Given the description of an element on the screen output the (x, y) to click on. 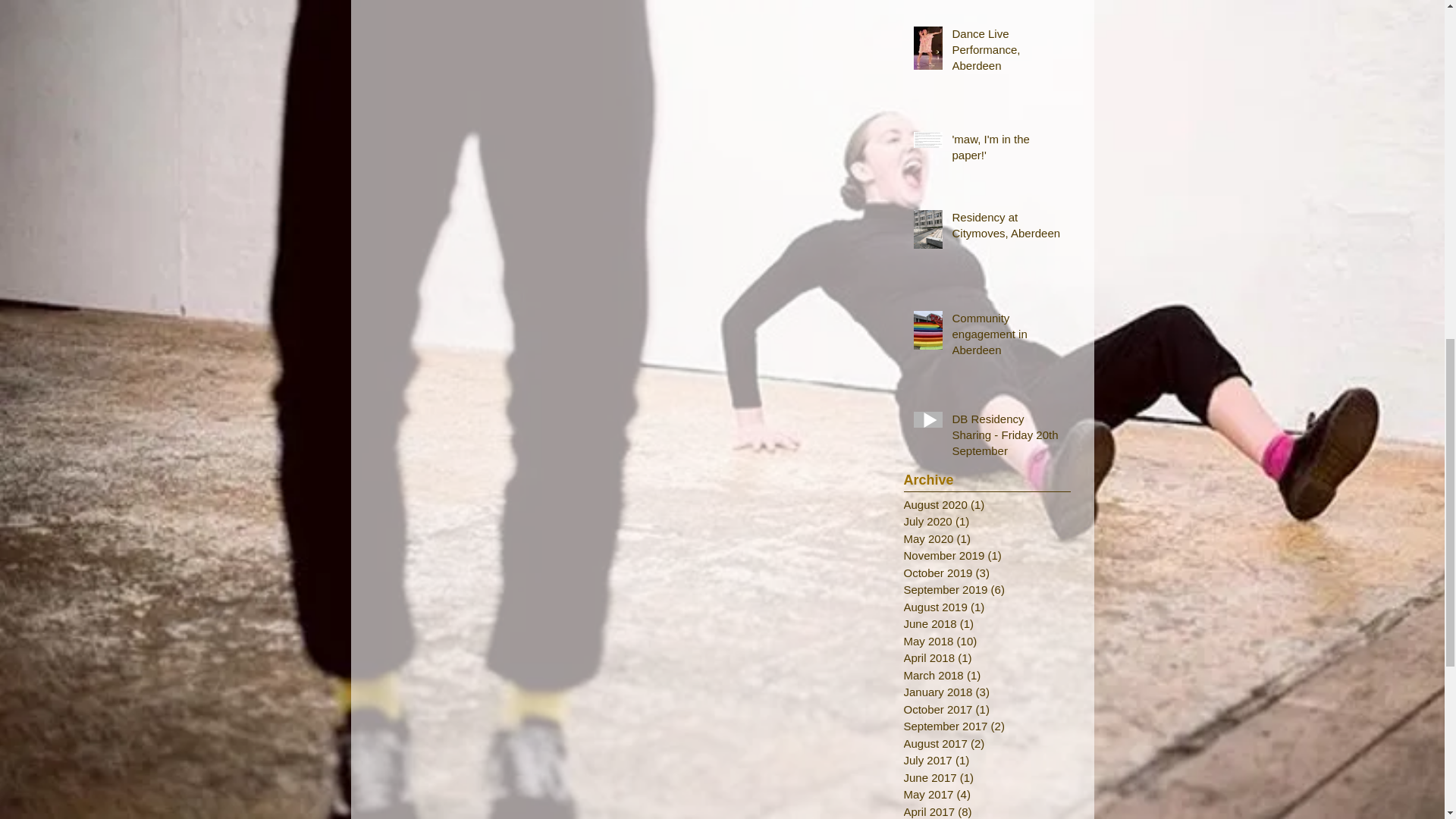
Residency at Citymoves, Aberdeen (1006, 228)
Teaching at Scottish Dance Theatre, Dundee (1006, 0)
Dance Live Performance, Aberdeen (1006, 52)
'maw, I'm in the paper!' (1006, 149)
DB Residency Sharing - Friday 20th September (1006, 438)
Community engagement in Aberdeen (1006, 336)
